Given the description of an element on the screen output the (x, y) to click on. 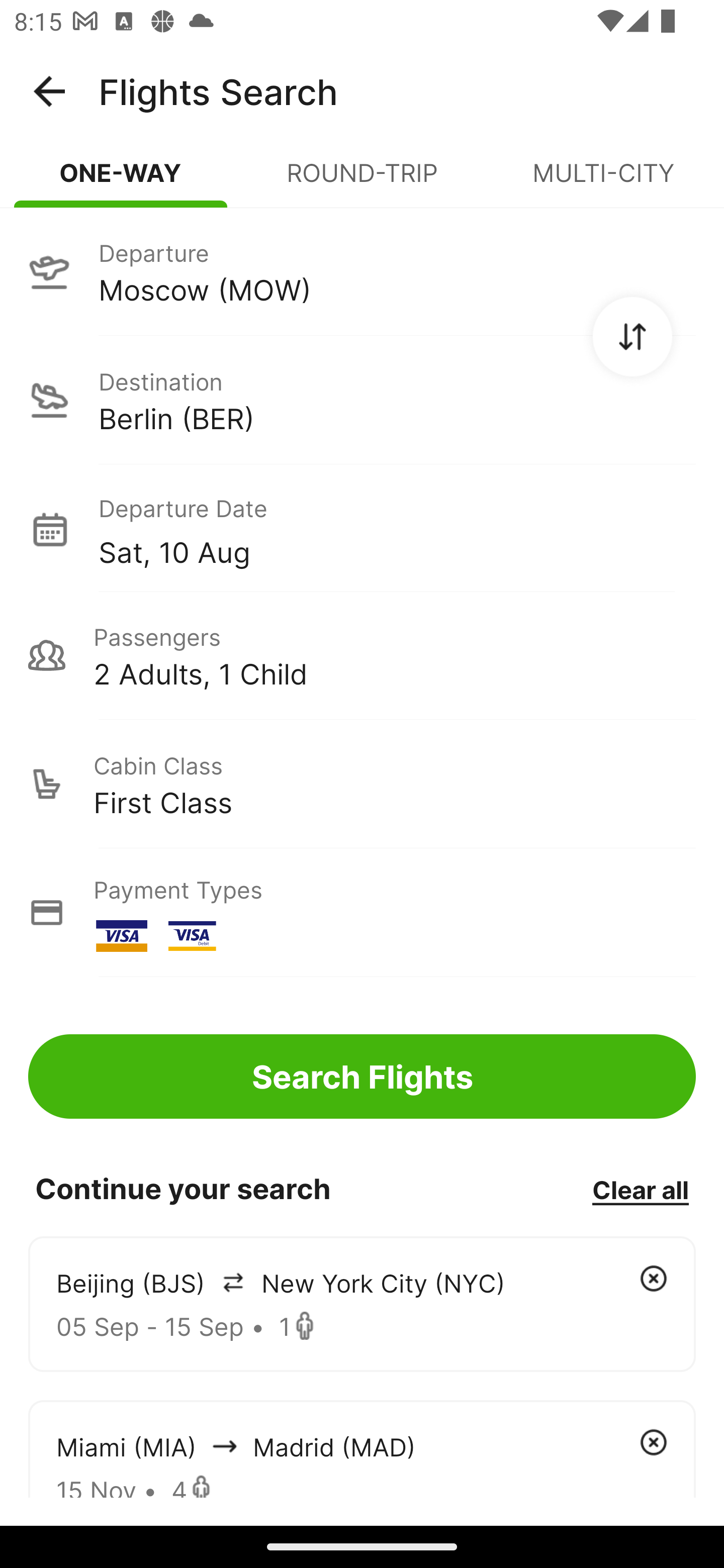
ONE-WAY (120, 180)
ROUND-TRIP (361, 180)
MULTI-CITY (603, 180)
Departure Moscow (MOW) (362, 270)
Destination Berlin (BER) (362, 400)
Departure Date Sat, 10 Aug (396, 528)
Passengers 2 Adults, 1 Child (362, 655)
Cabin Class First Class (362, 783)
Payment Types (362, 912)
Search Flights (361, 1075)
Clear all (640, 1189)
Miami (MIA)  arrowIcon  Madrid (MAD) 15 Nov •  4  (361, 1448)
